Given the description of an element on the screen output the (x, y) to click on. 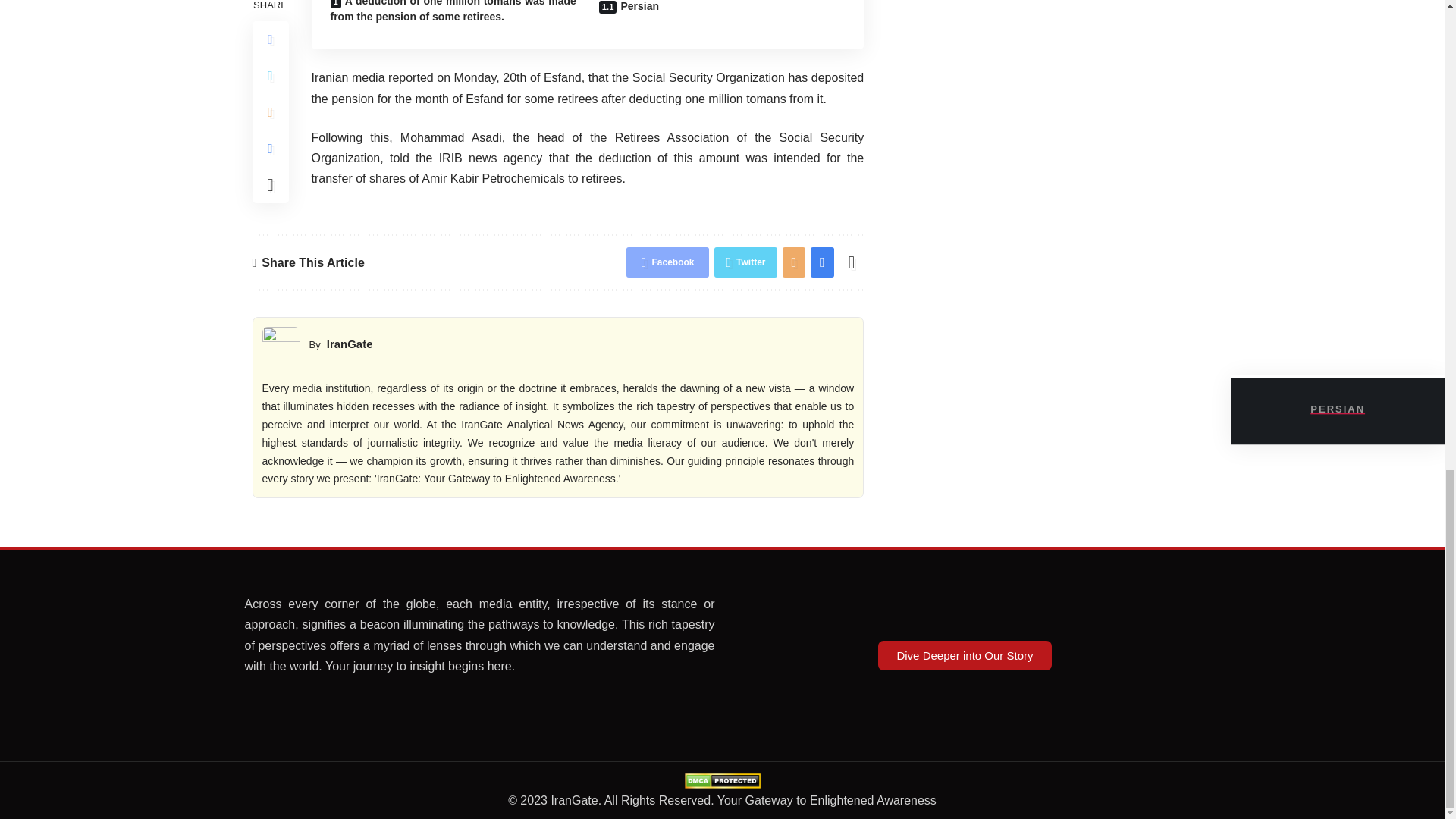
DMCA.com Protection Status (722, 779)
